Given the description of an element on the screen output the (x, y) to click on. 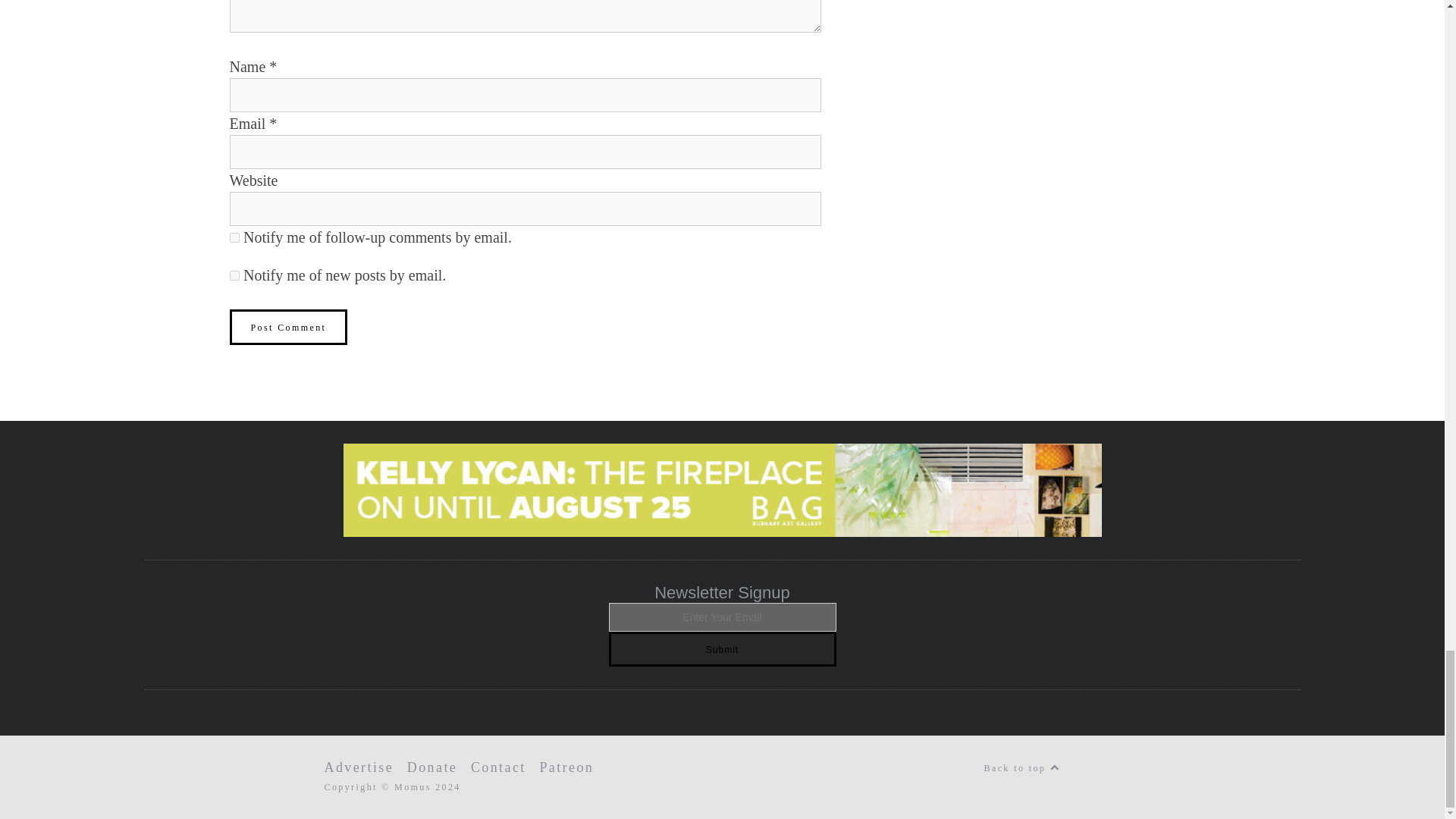
subscribe (233, 237)
subscribe (233, 275)
Post Comment (287, 326)
Submit (721, 648)
